Given the description of an element on the screen output the (x, y) to click on. 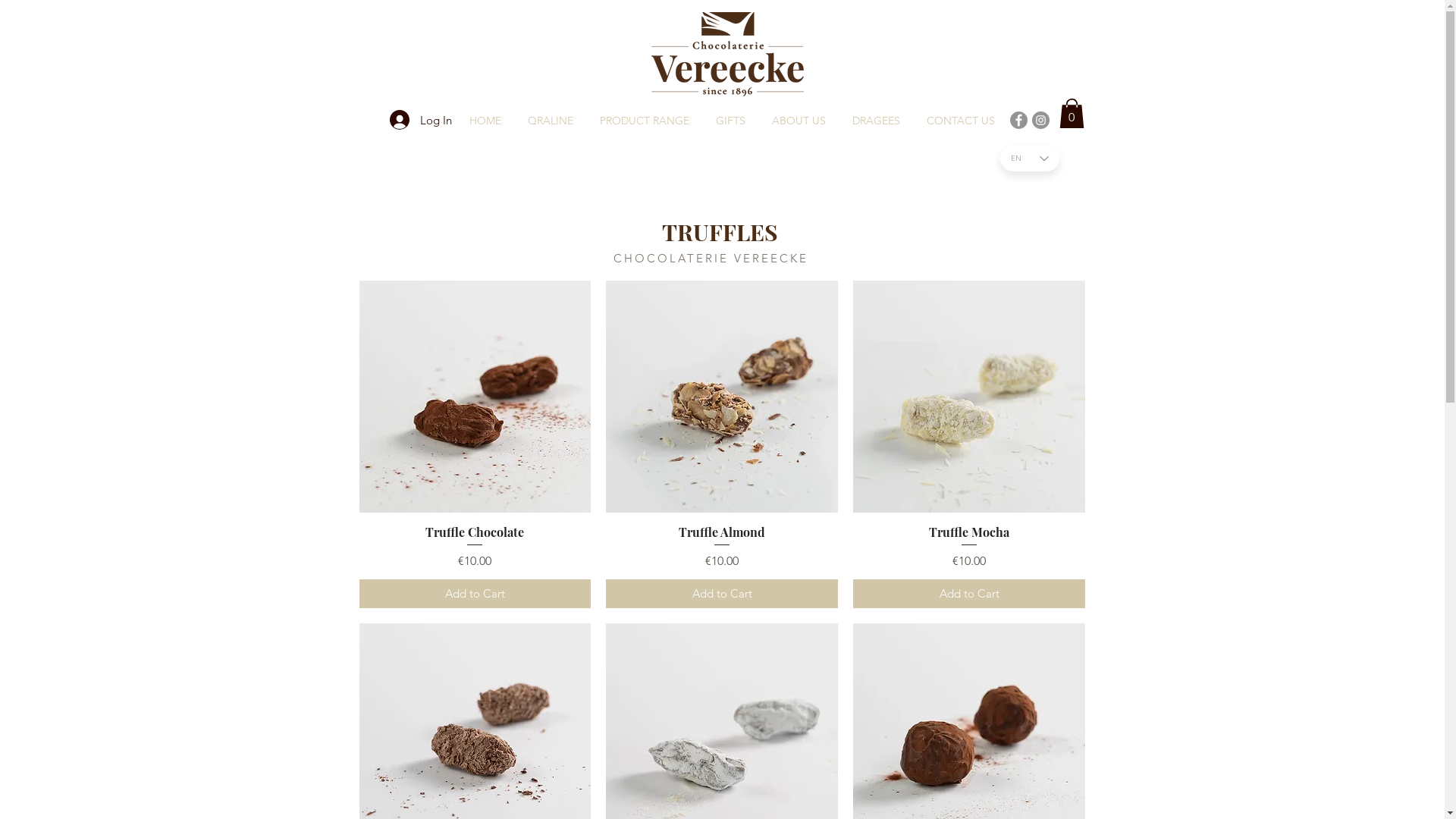
CONTACT US Element type: text (960, 120)
Add to Cart Element type: text (721, 593)
Add to Cart Element type: text (969, 593)
Add to Cart Element type: text (475, 593)
QRALINE Element type: text (550, 120)
Log In Element type: text (420, 119)
ABOUT US Element type: text (798, 120)
HOME Element type: text (484, 120)
GIFTS Element type: text (730, 120)
DRAGEES Element type: text (875, 120)
PRODUCT RANGE Element type: text (644, 120)
0 Element type: text (1070, 113)
